Given the description of an element on the screen output the (x, y) to click on. 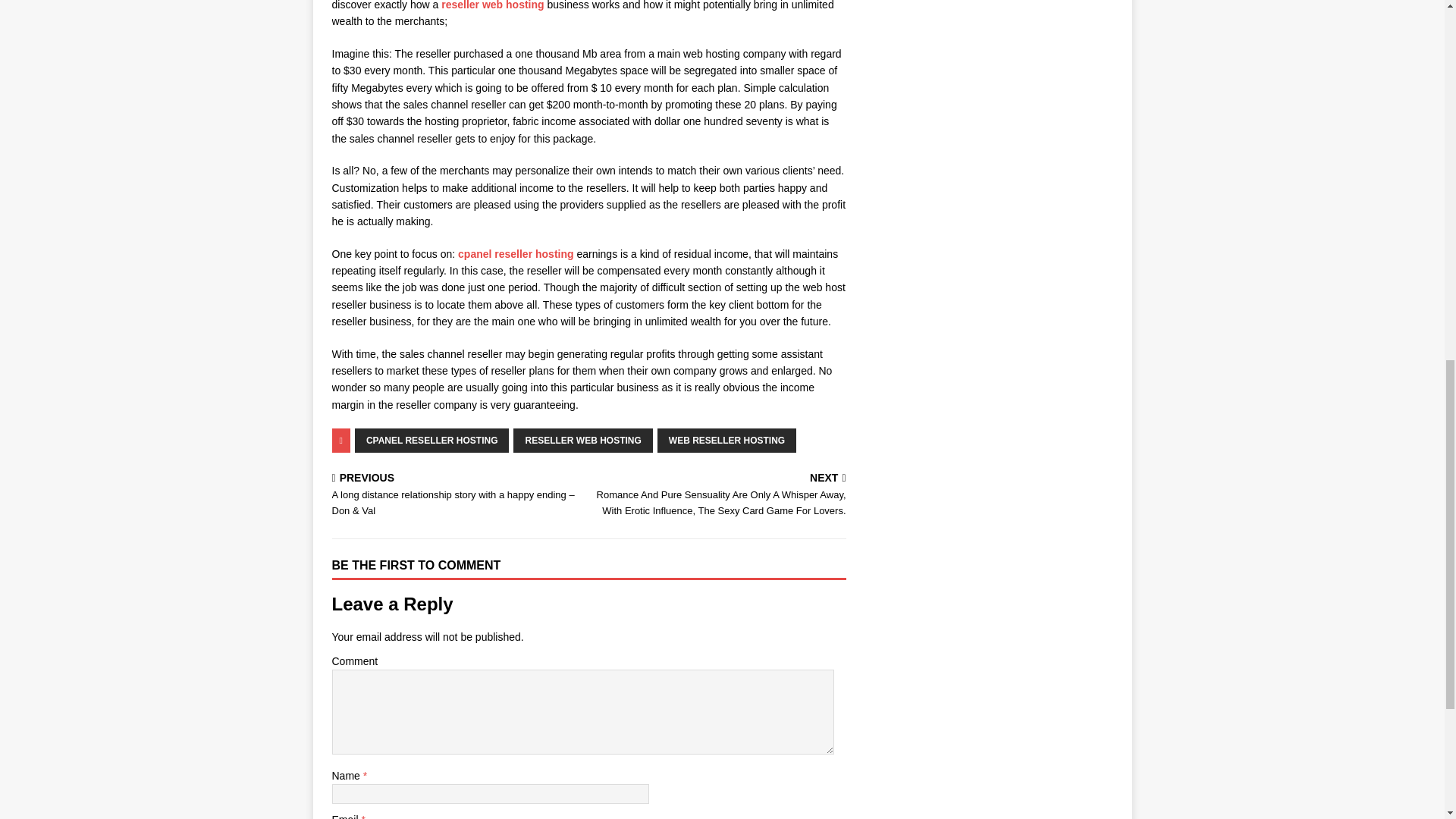
RESELLER WEB HOSTING (582, 440)
WEB RESELLER HOSTING (727, 440)
cpanel reseller hosting (515, 254)
CPANEL RESELLER HOSTING (432, 440)
reseller web hosting (492, 5)
